Given the description of an element on the screen output the (x, y) to click on. 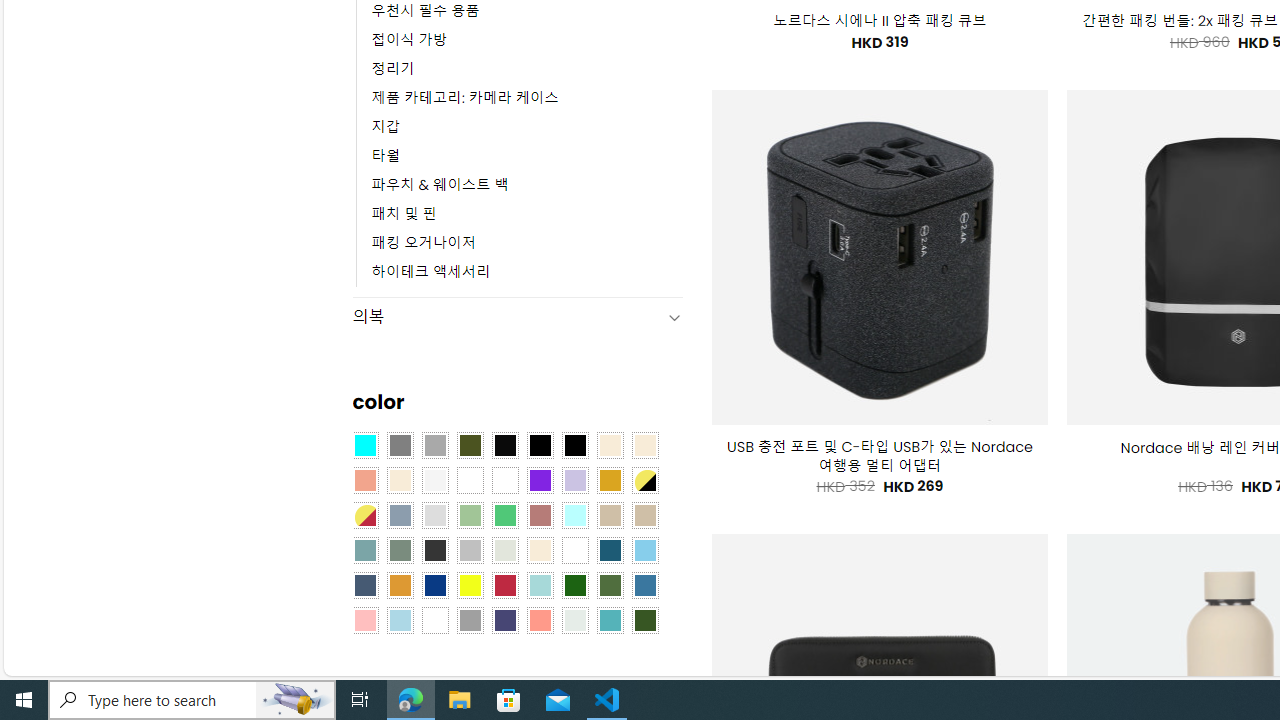
Cream (399, 480)
Dull Nickle (574, 619)
